Given the description of an element on the screen output the (x, y) to click on. 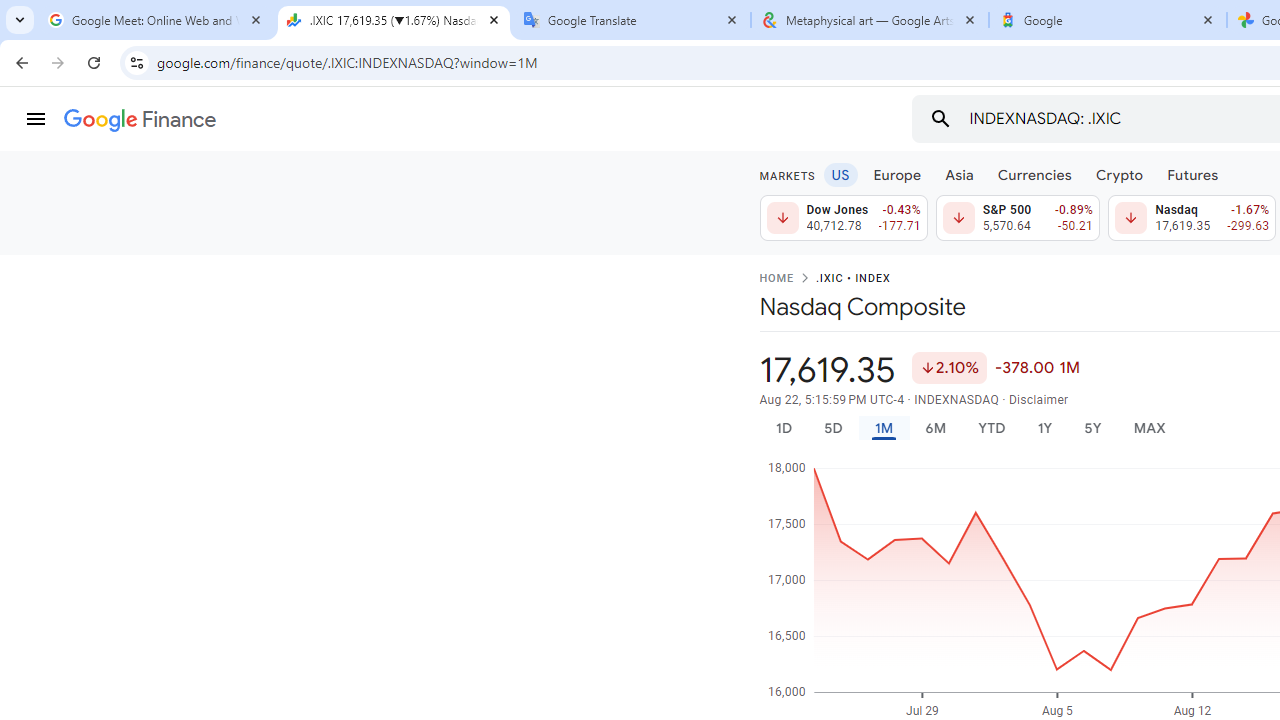
Crypto (1119, 174)
Nasdaq 17,619.35 Down by 1.67% -299.63 (1192, 218)
1Y (1044, 427)
Futures (1192, 174)
1M (882, 427)
Europe (897, 174)
Finance (140, 120)
Google Translate (632, 20)
5D (832, 427)
6M (934, 427)
